Given the description of an element on the screen output the (x, y) to click on. 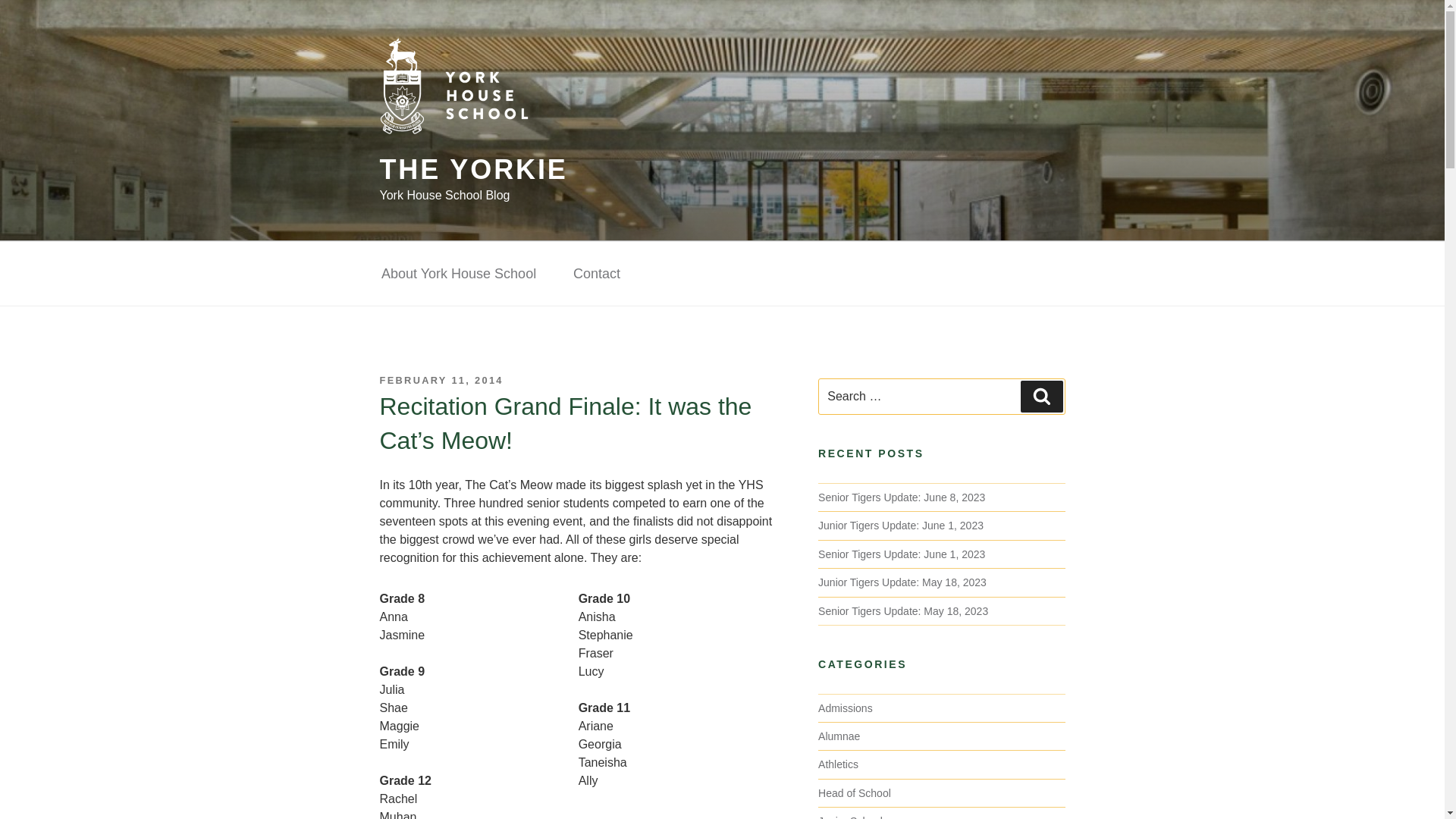
About York House School (458, 274)
FEBRUARY 11, 2014 (440, 379)
Junior Tigers Update: June 1, 2023 (901, 525)
Senior Tigers Update: June 1, 2023 (901, 553)
Alumnae (839, 736)
Junior School (850, 816)
Search (1041, 396)
Senior Tigers Update: May 18, 2023 (903, 611)
Junior Tigers Update: May 18, 2023 (902, 582)
Contact (596, 274)
Admissions (845, 707)
Senior Tigers Update: June 8, 2023 (901, 497)
Head of School (854, 793)
Athletics (838, 764)
THE YORKIE (472, 169)
